Given the description of an element on the screen output the (x, y) to click on. 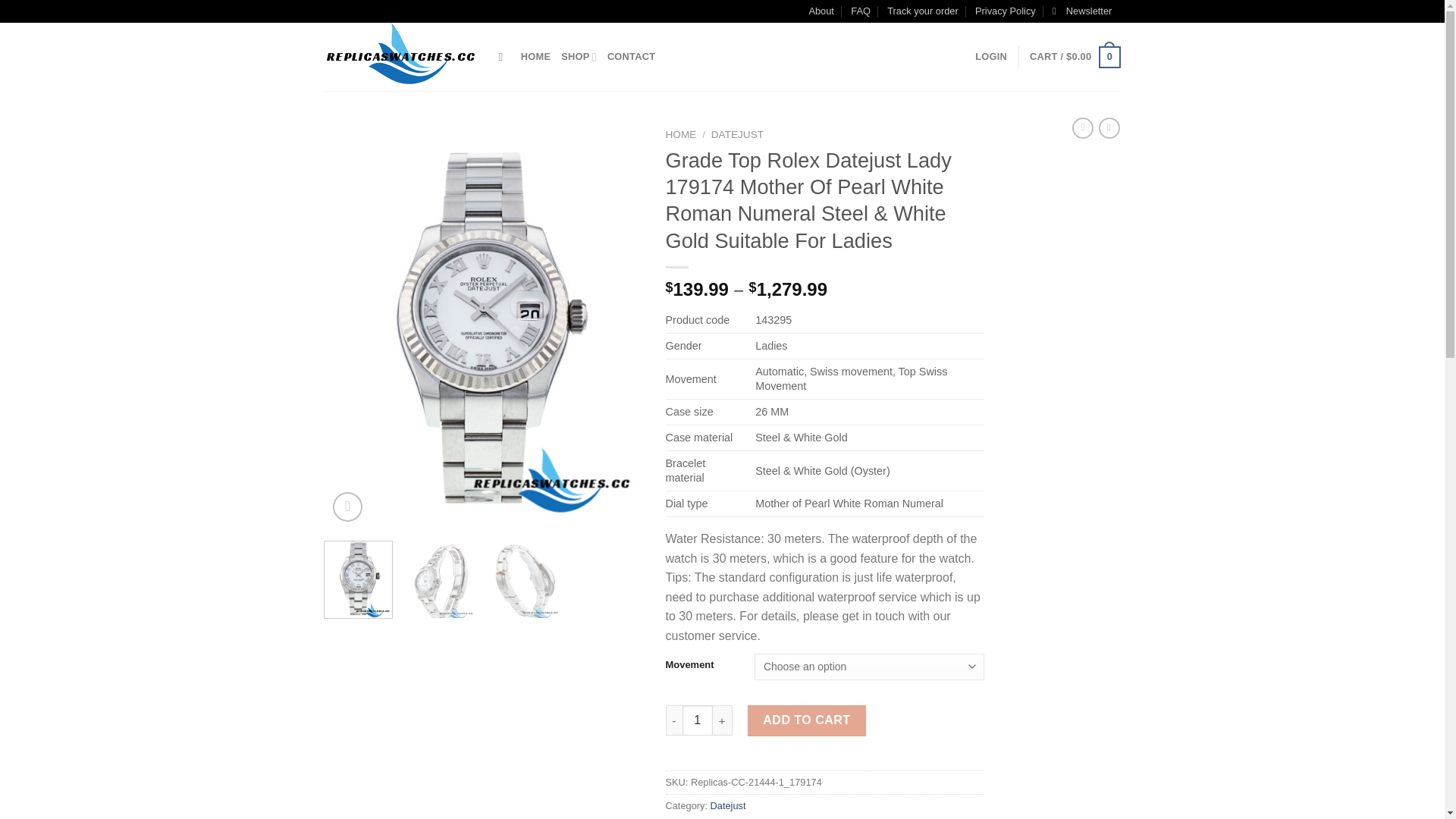
Newsletter (1082, 11)
LOGIN (991, 56)
CONTACT (631, 56)
Sign up for Newsletter (1082, 11)
Track your order (922, 11)
HOME (535, 56)
1 (697, 720)
Qty (697, 720)
Privacy Policy (1005, 11)
Cart (1074, 57)
